Given the description of an element on the screen output the (x, y) to click on. 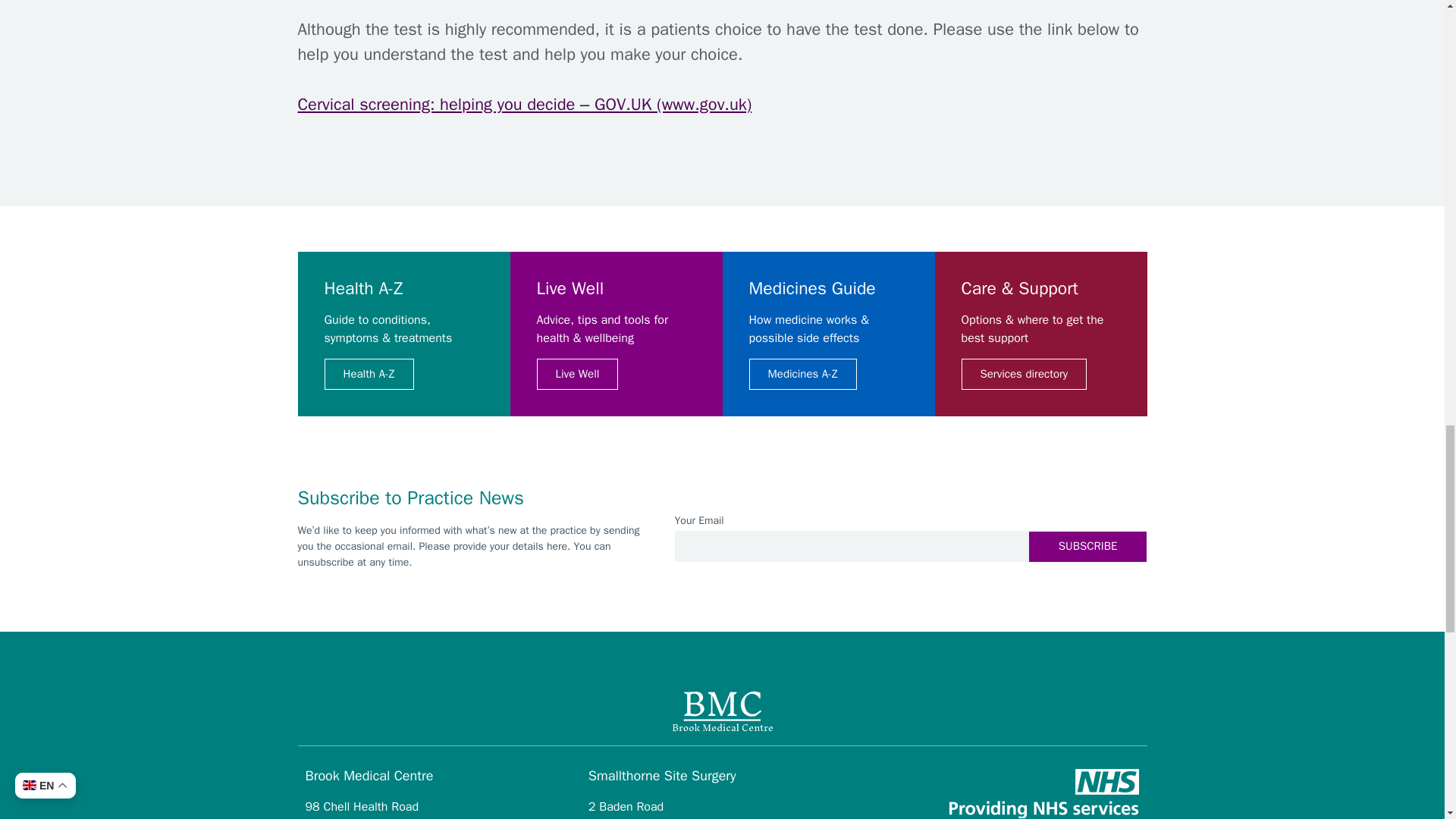
Providing-NHS-Services-white (1043, 793)
